Given the description of an element on the screen output the (x, y) to click on. 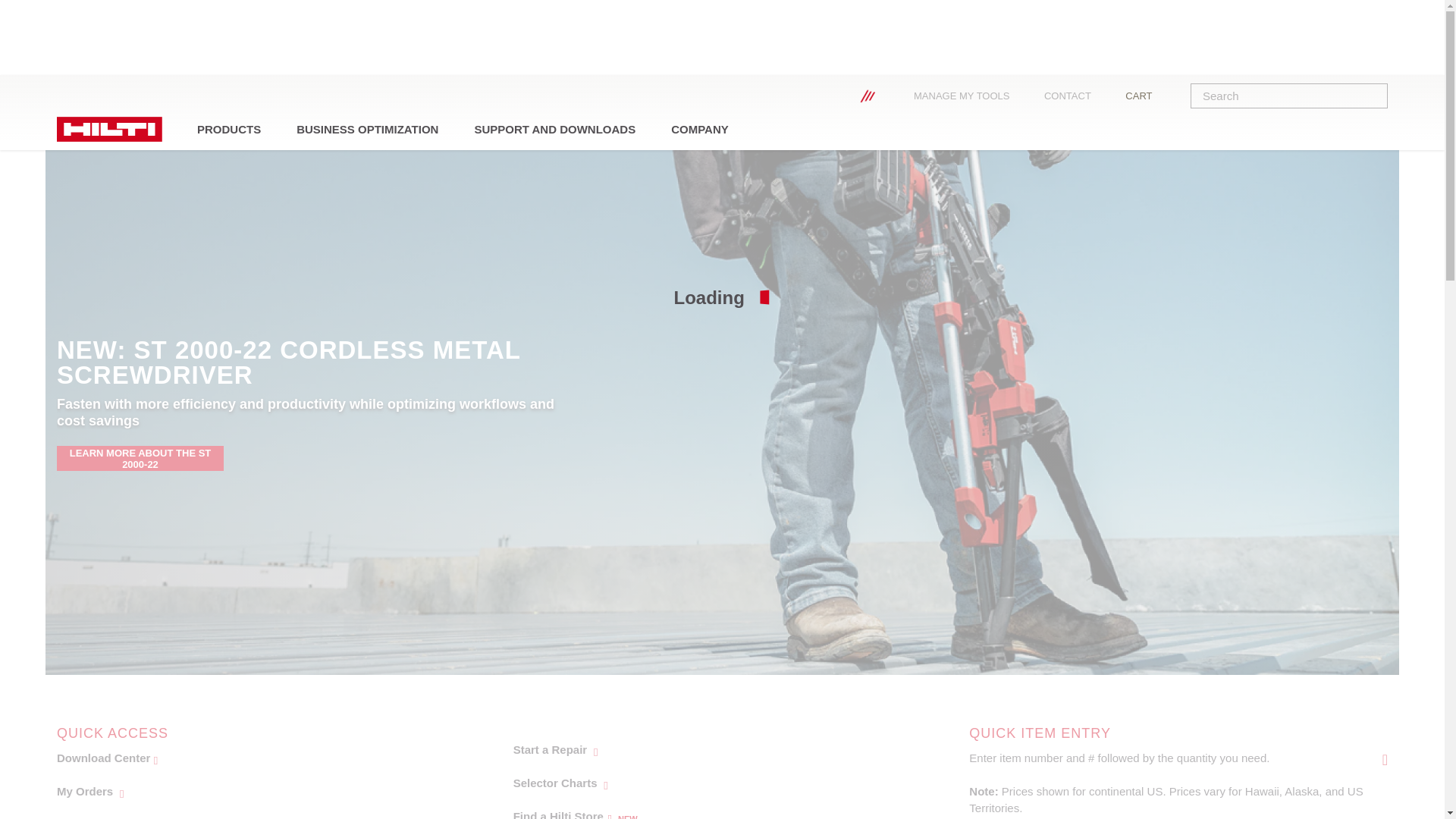
Get access (707, 809)
Selector Charts (890, 95)
BUSINESS OPTIMIZATION (707, 783)
MANAGE MY TOOLS (367, 129)
Start a Repair (973, 95)
SKIP TO MAIN CONTENT (707, 749)
Download Center (251, 791)
COMPANY (251, 758)
Delivery Status (699, 129)
PRODUCTS (251, 813)
CART (229, 129)
LOGIN OR REGISTER (1149, 95)
SUPPORT AND DOWNLOADS (839, 95)
